Given the description of an element on the screen output the (x, y) to click on. 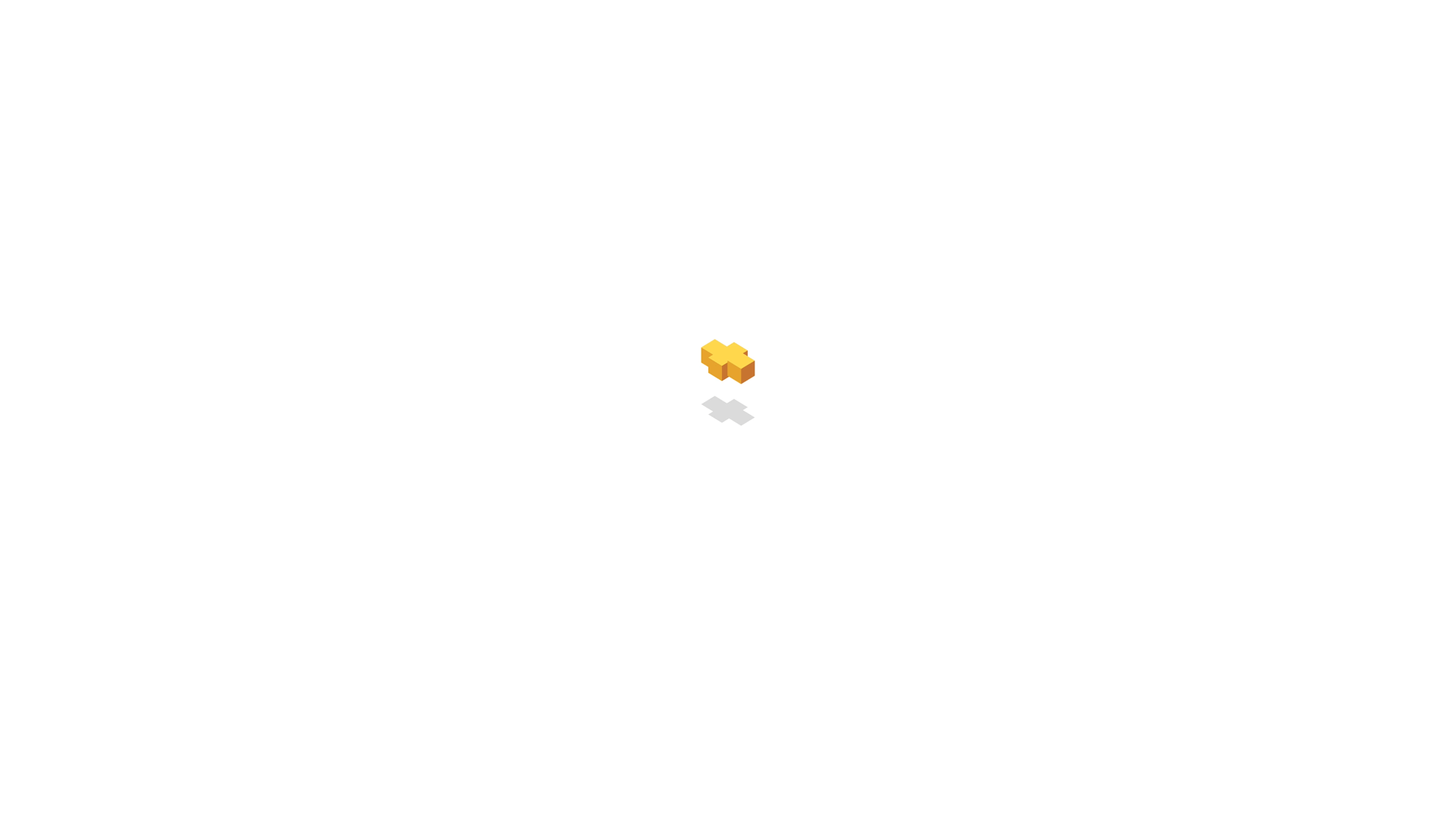
Anthea Polson Art Element type: text (726, 210)
